Given the description of an element on the screen output the (x, y) to click on. 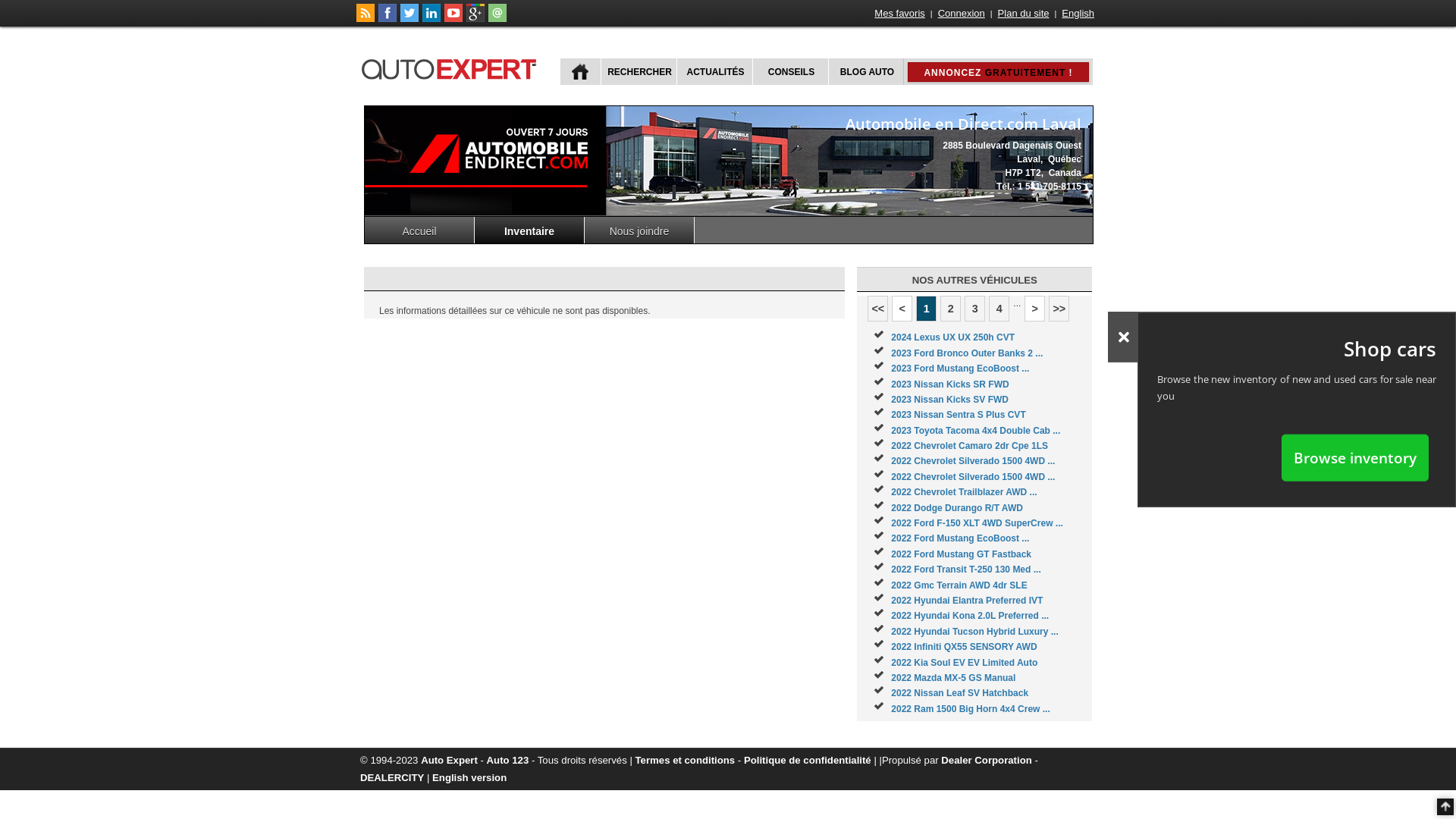
Suivez Publications Le Guide Inc. sur LinkedIn Element type: hover (431, 18)
2023 Nissan Sentra S Plus CVT Element type: text (958, 414)
2023 Nissan Kicks SV FWD Element type: text (949, 399)
Nous joindre Element type: text (639, 229)
CONSEILS Element type: text (789, 71)
ACCUEIL Element type: text (580, 71)
Auto 123 Element type: text (507, 759)
Plan du site Element type: text (1023, 13)
Accueil Element type: text (419, 229)
2022 Hyundai Elantra Preferred IVT Element type: text (966, 600)
>> Element type: text (1058, 308)
English version Element type: text (469, 777)
2023 Nissan Kicks SR FWD Element type: text (949, 384)
2022 Hyundai Tucson Hybrid Luxury ... Element type: text (974, 631)
2024 Lexus UX UX 250h CVT Element type: text (952, 337)
2023 Ford Mustang EcoBoost ... Element type: text (960, 368)
2023 Toyota Tacoma 4x4 Double Cab ... Element type: text (975, 430)
autoExpert.ca Element type: text (451, 66)
Browse inventory Element type: text (1354, 457)
Termes et conditions Element type: text (685, 759)
2022 Nissan Leaf SV Hatchback Element type: text (959, 692)
> Element type: text (1034, 308)
2022 Ford Mustang EcoBoost ... Element type: text (960, 538)
1 Element type: text (926, 308)
2022 Kia Soul EV EV Limited Auto Element type: text (964, 662)
Inventaire Element type: text (529, 229)
2022 Hyundai Kona 2.0L Preferred ... Element type: text (969, 615)
Suivez autoExpert.ca sur Twitter Element type: hover (409, 18)
Dealer Corporation Element type: text (986, 759)
Mes favoris Element type: text (898, 13)
Suivez autoExpert.ca sur Facebook Element type: hover (387, 18)
2022 Ford Mustang GT Fastback Element type: text (961, 554)
2022 Ford Transit T-250 130 Med ... Element type: text (965, 569)
2022 Chevrolet Camaro 2dr Cpe 1LS Element type: text (969, 445)
ANNONCEZ GRATUITEMENT ! Element type: text (997, 71)
Suivez autoExpert.ca sur Google Plus Element type: hover (475, 18)
Joindre autoExpert.ca Element type: hover (497, 18)
BLOG AUTO Element type: text (865, 71)
2022 Chevrolet Silverado 1500 4WD ... Element type: text (972, 460)
< Element type: text (901, 308)
2022 Dodge Durango R/T AWD Element type: text (956, 507)
2022 Gmc Terrain AWD 4dr SLE Element type: text (958, 585)
4 Element type: text (998, 308)
Suivez autoExpert.ca sur Youtube Element type: hover (453, 18)
2022 Ram 1500 Big Horn 4x4 Crew ... Element type: text (970, 708)
2022 Chevrolet Silverado 1500 4WD ... Element type: text (972, 476)
2022 Mazda MX-5 GS Manual Element type: text (953, 677)
<< Element type: text (877, 308)
3 Element type: text (974, 308)
DEALERCITY Element type: text (391, 777)
Auto Expert Element type: text (448, 759)
2023 Ford Bronco Outer Banks 2 ... Element type: text (966, 353)
2022 Infiniti QX55 SENSORY AWD Element type: text (963, 646)
RECHERCHER Element type: text (637, 71)
English Element type: text (1077, 13)
2022 Ford F-150 XLT 4WD SuperCrew ... Element type: text (977, 522)
2022 Chevrolet Trailblazer AWD ... Element type: text (963, 491)
Connexion Element type: text (961, 13)
2 Element type: text (950, 308)
